Given the description of an element on the screen output the (x, y) to click on. 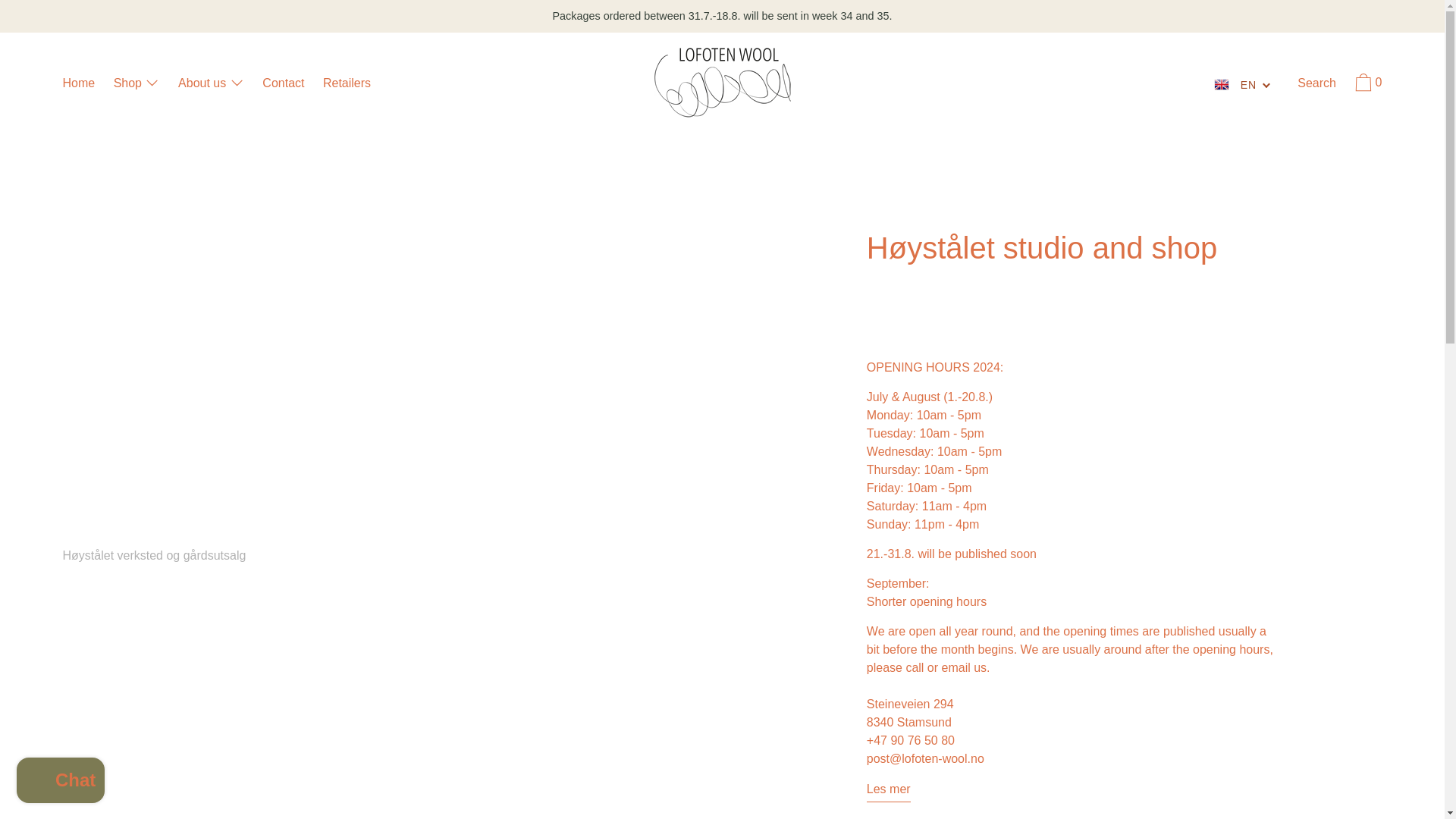
Home (78, 84)
0 (1366, 84)
Shopify online store chat (60, 781)
Retailers (346, 84)
About us (210, 84)
Search (1316, 84)
Shop (136, 84)
Contact (282, 84)
